Given the description of an element on the screen output the (x, y) to click on. 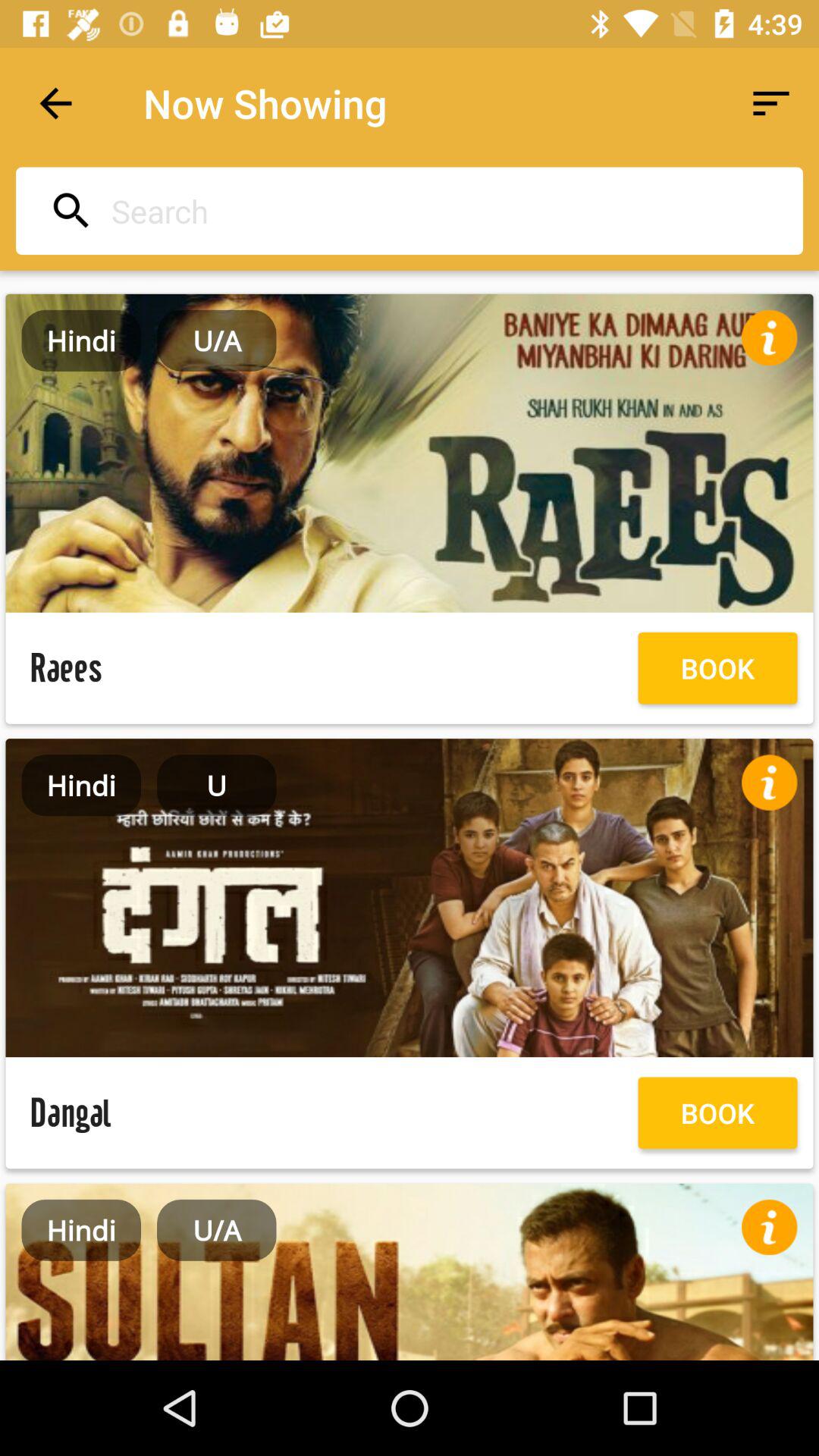
serarch (405, 210)
